Given the description of an element on the screen output the (x, y) to click on. 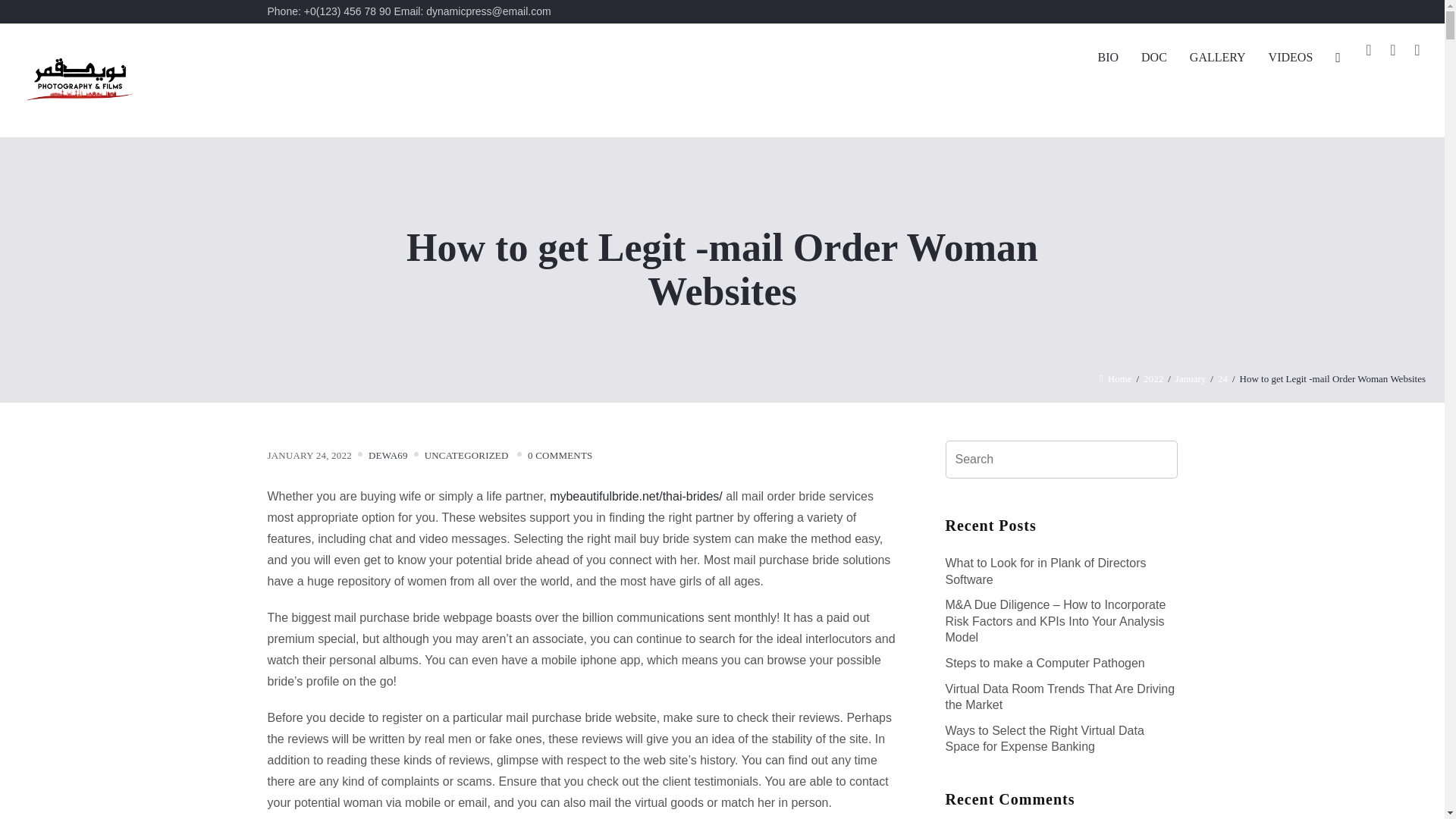
Posts by DEWA69 (387, 455)
GALLERY (1217, 57)
VIDEOS (1290, 57)
2022 (1152, 378)
January (1189, 378)
UNCATEGORIZED (466, 455)
0 COMMENTS (559, 455)
Home (1115, 378)
Twitter (1392, 49)
DEWA69 (387, 455)
Pinterest (1417, 49)
Facebook (1368, 49)
